Given the description of an element on the screen output the (x, y) to click on. 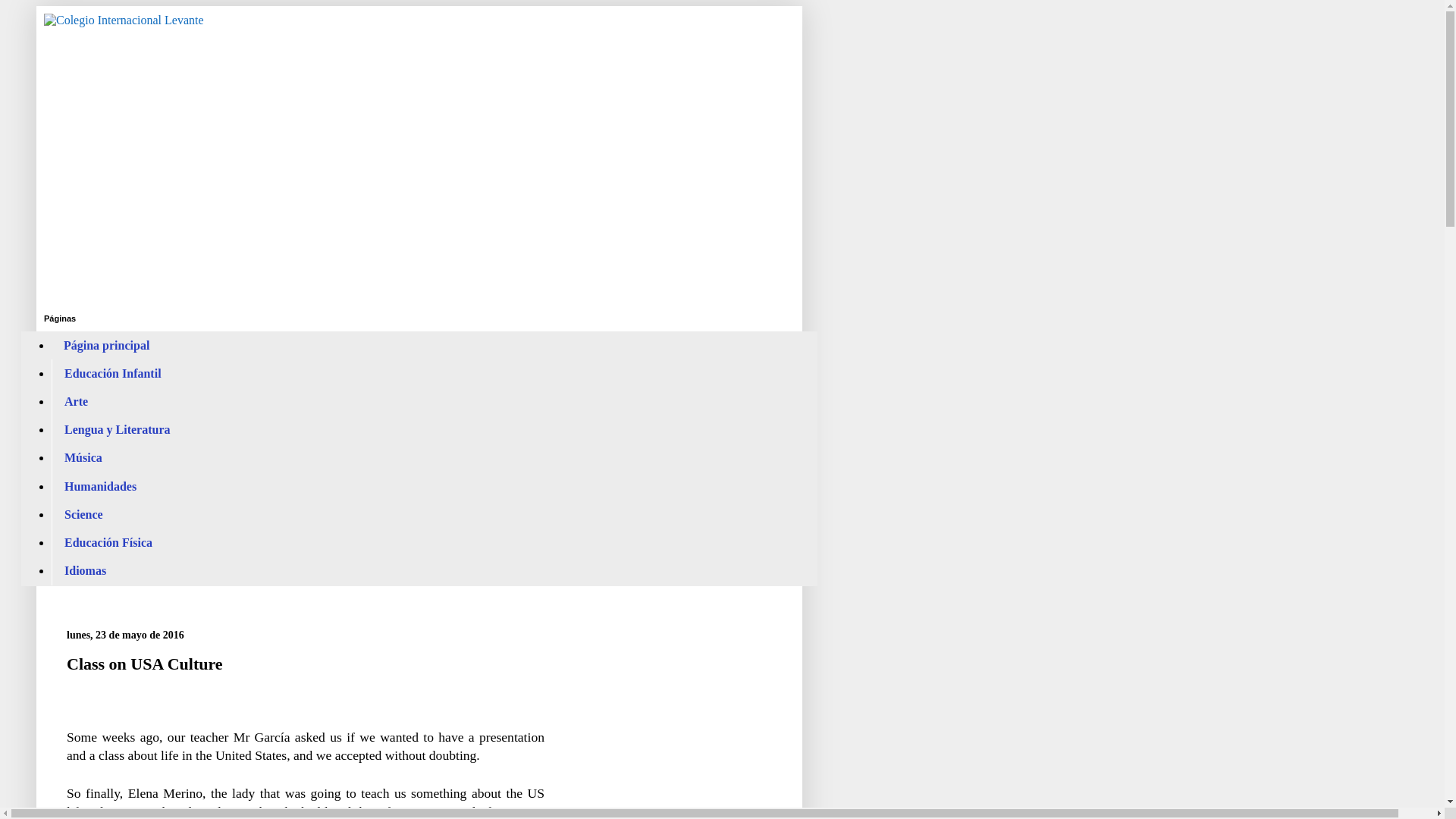
Science (83, 514)
Lengua y Literatura (116, 430)
Arte (75, 401)
Humanidades (99, 486)
Idiomas (84, 570)
